Given the description of an element on the screen output the (x, y) to click on. 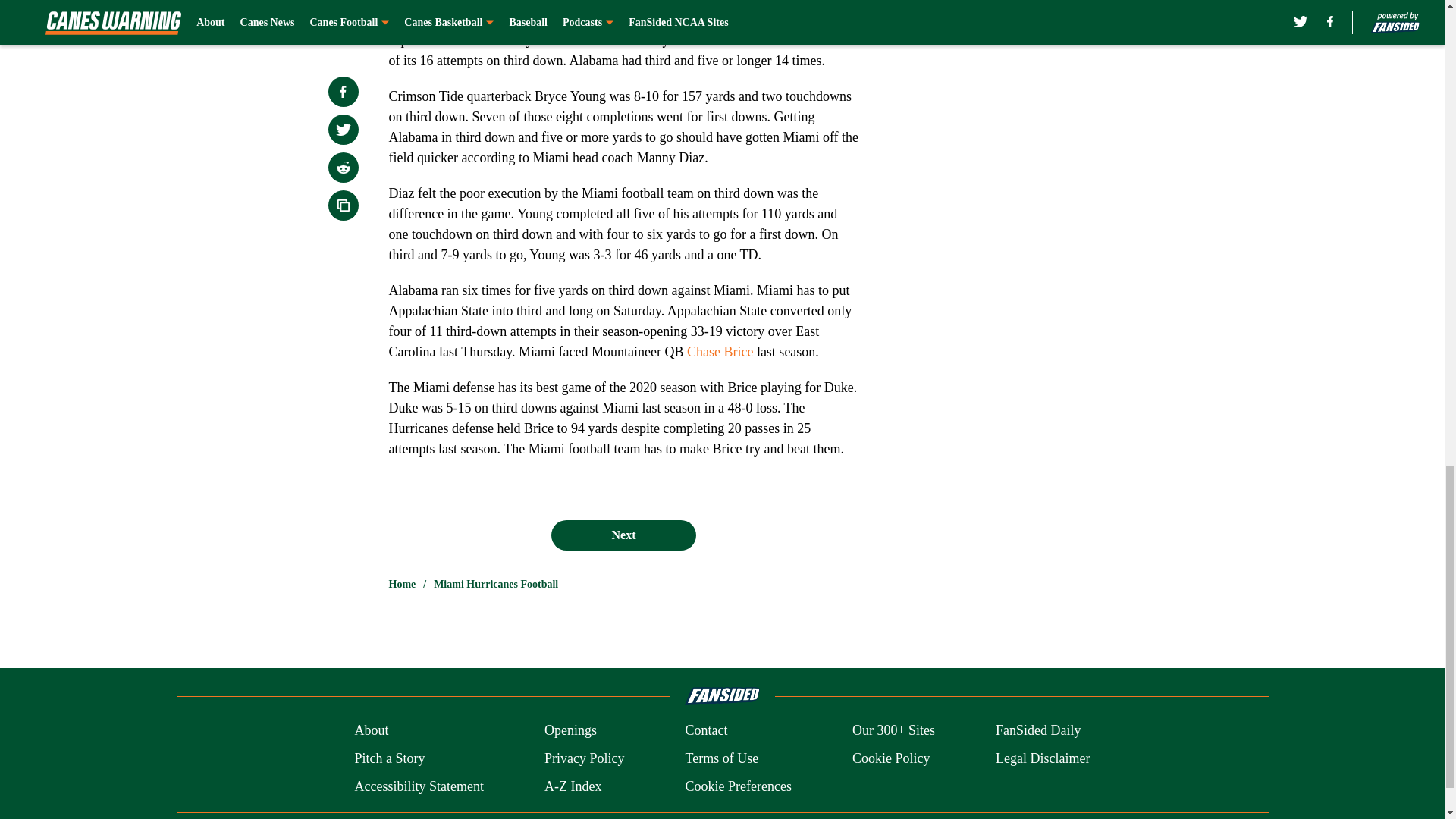
Terms of Use (721, 758)
FanSided Daily (1038, 730)
Home (401, 584)
Pitch a Story (389, 758)
Contact (705, 730)
Privacy Policy (584, 758)
About (370, 730)
Miami football (454, 3)
Next (622, 535)
Openings (570, 730)
